Given the description of an element on the screen output the (x, y) to click on. 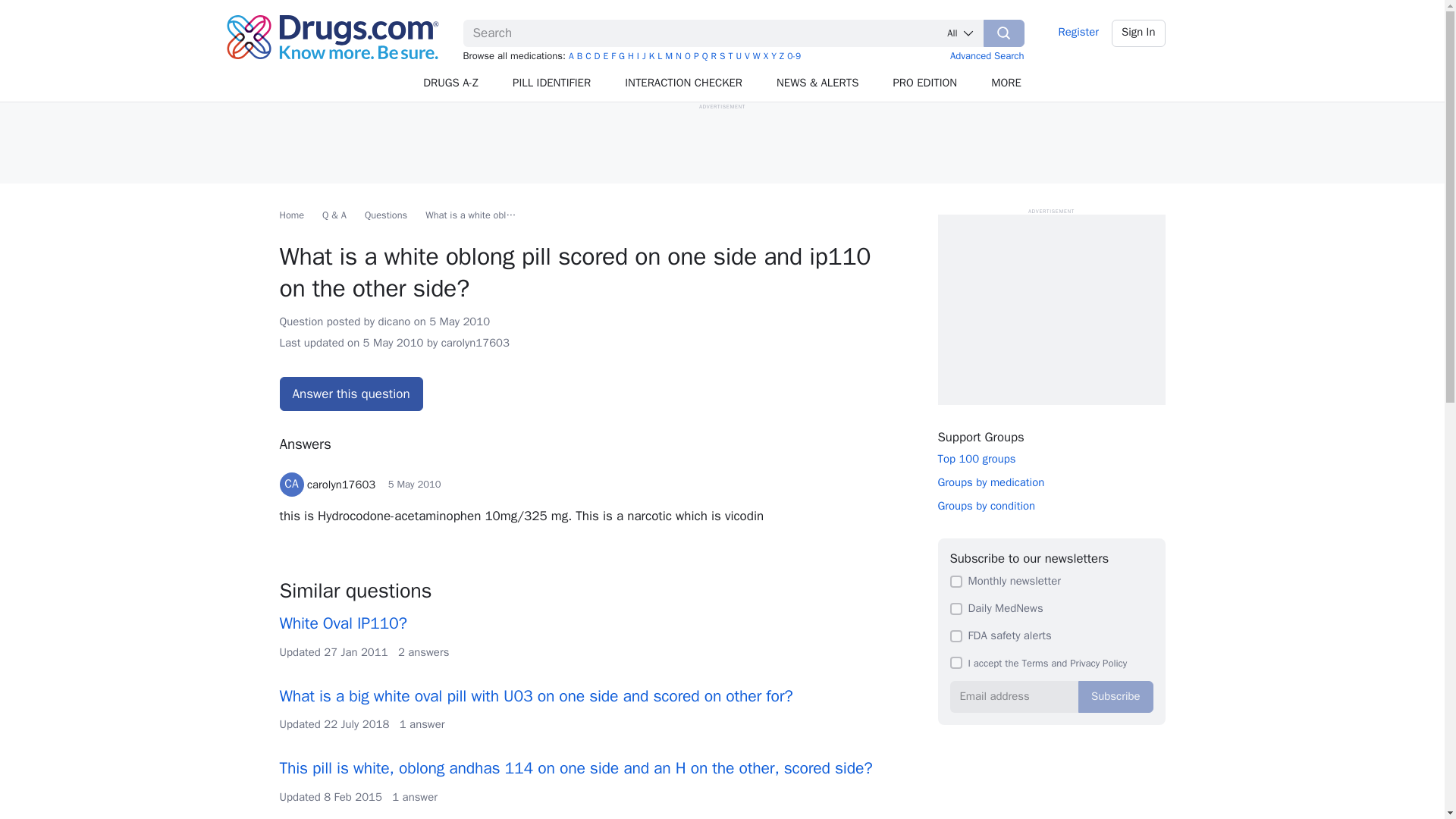
5 May 2010 2:41pm (414, 483)
Advanced Search (987, 55)
Search (1004, 32)
5 May 2010 2:41pm (392, 342)
PILL IDENTIFIER (551, 83)
DRUGS A-Z (450, 83)
Register (1078, 32)
5 May 2010 12:00pm (459, 321)
Sign In (1139, 32)
0-9 (793, 55)
